Given the description of an element on the screen output the (x, y) to click on. 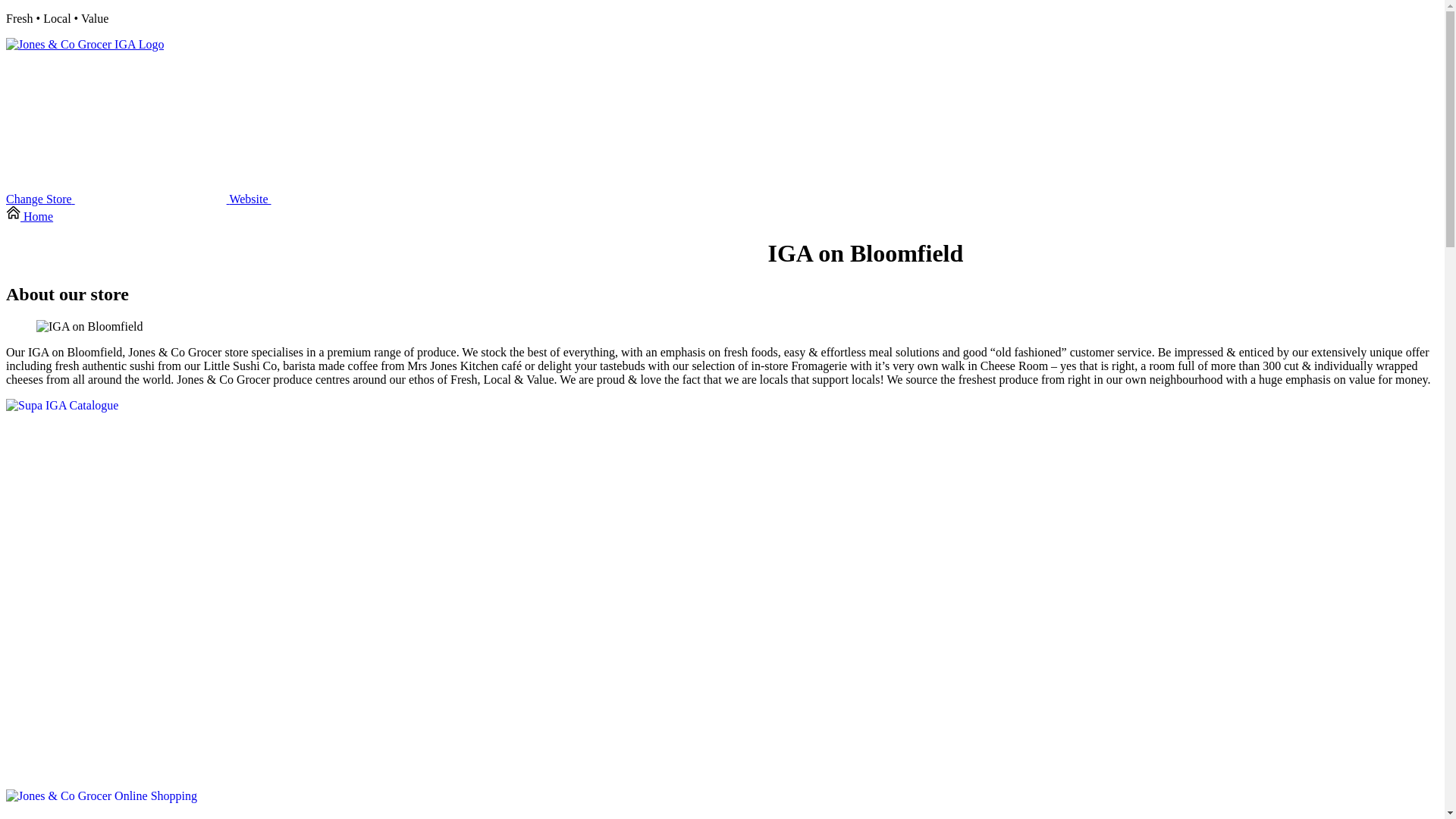
click to go to this online store home page Element type: hover (84, 43)
Change Store Store Location Element type: text (117, 198)
Jones & Co Grocer IGA Logo Element type: hover (84, 44)
Home Element type: text (29, 216)
Website chevron-right Element type: text (325, 198)
